Given the description of an element on the screen output the (x, y) to click on. 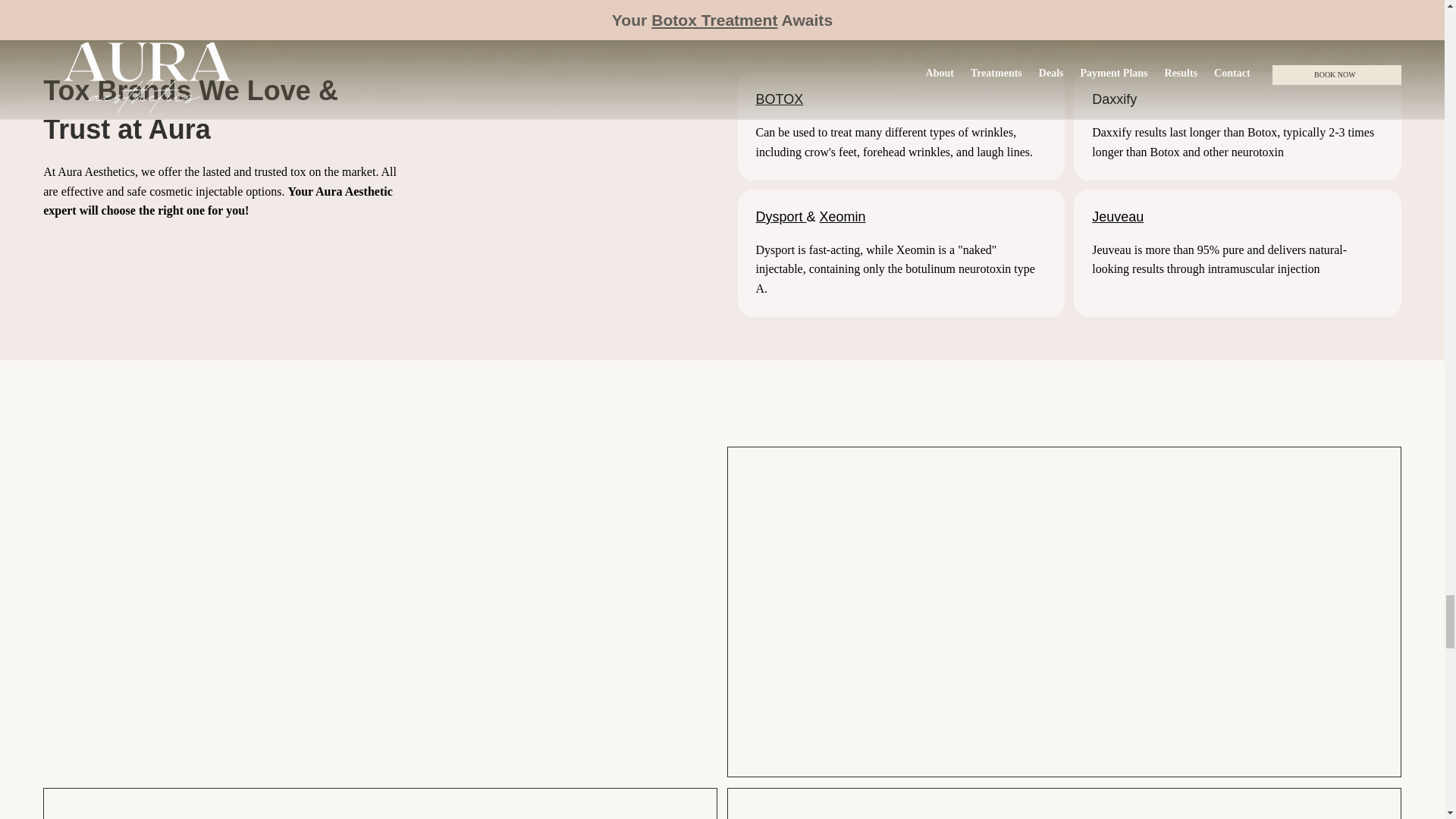
BOTOX (779, 99)
Dysport  (780, 216)
Xeomin (842, 216)
Jeuveau (1117, 216)
